Given the description of an element on the screen output the (x, y) to click on. 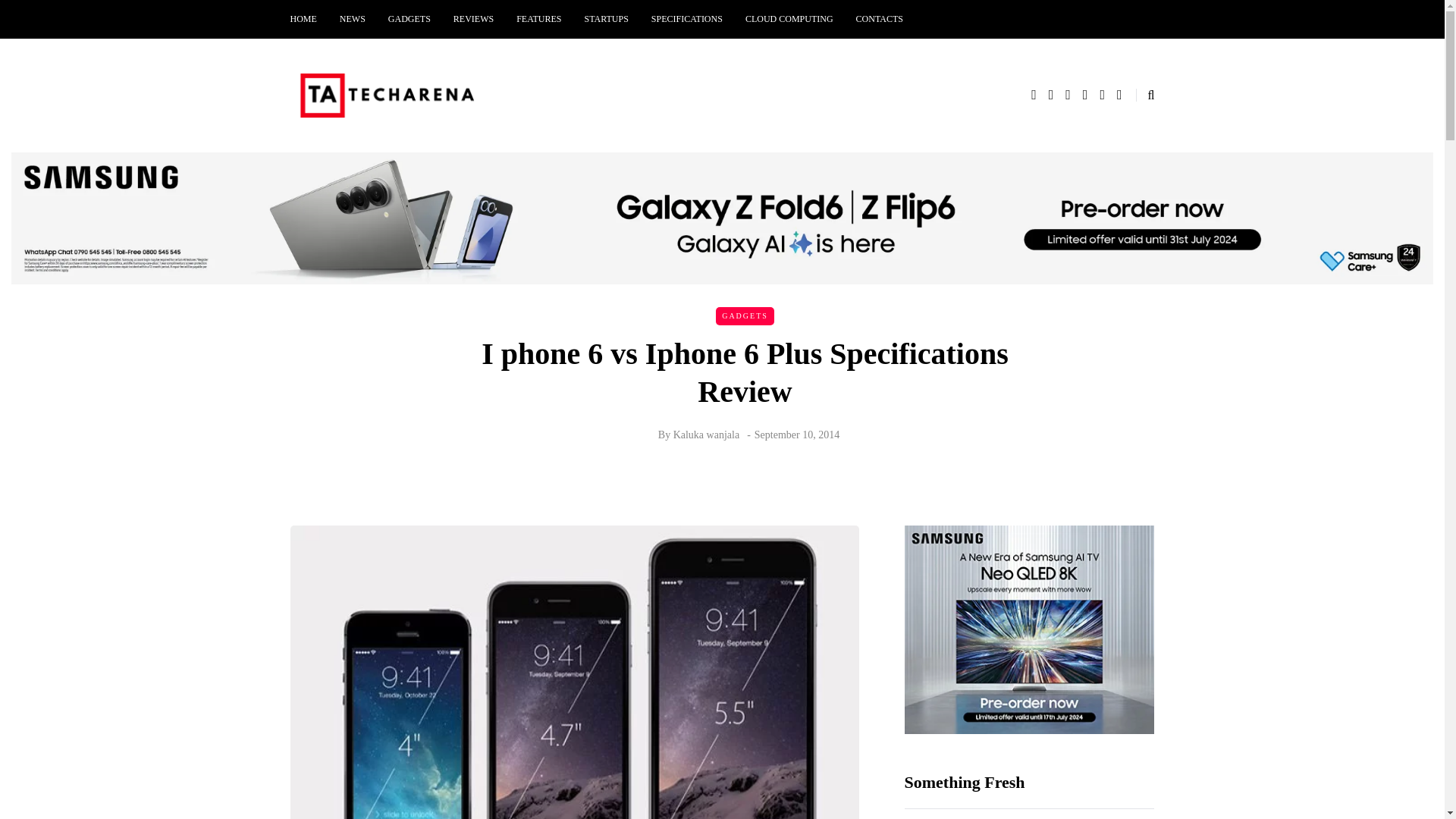
REVIEWS (473, 19)
CONTACTS (879, 19)
Kaluka wanjala (705, 434)
GADGETS (409, 19)
GADGETS (745, 316)
FEATURES (538, 19)
HOME (308, 19)
CLOUD COMPUTING (788, 19)
SPECIFICATIONS (686, 19)
Posts by Kaluka wanjala (705, 434)
STARTUPS (606, 19)
Search (43, 15)
NEWS (353, 19)
